Given the description of an element on the screen output the (x, y) to click on. 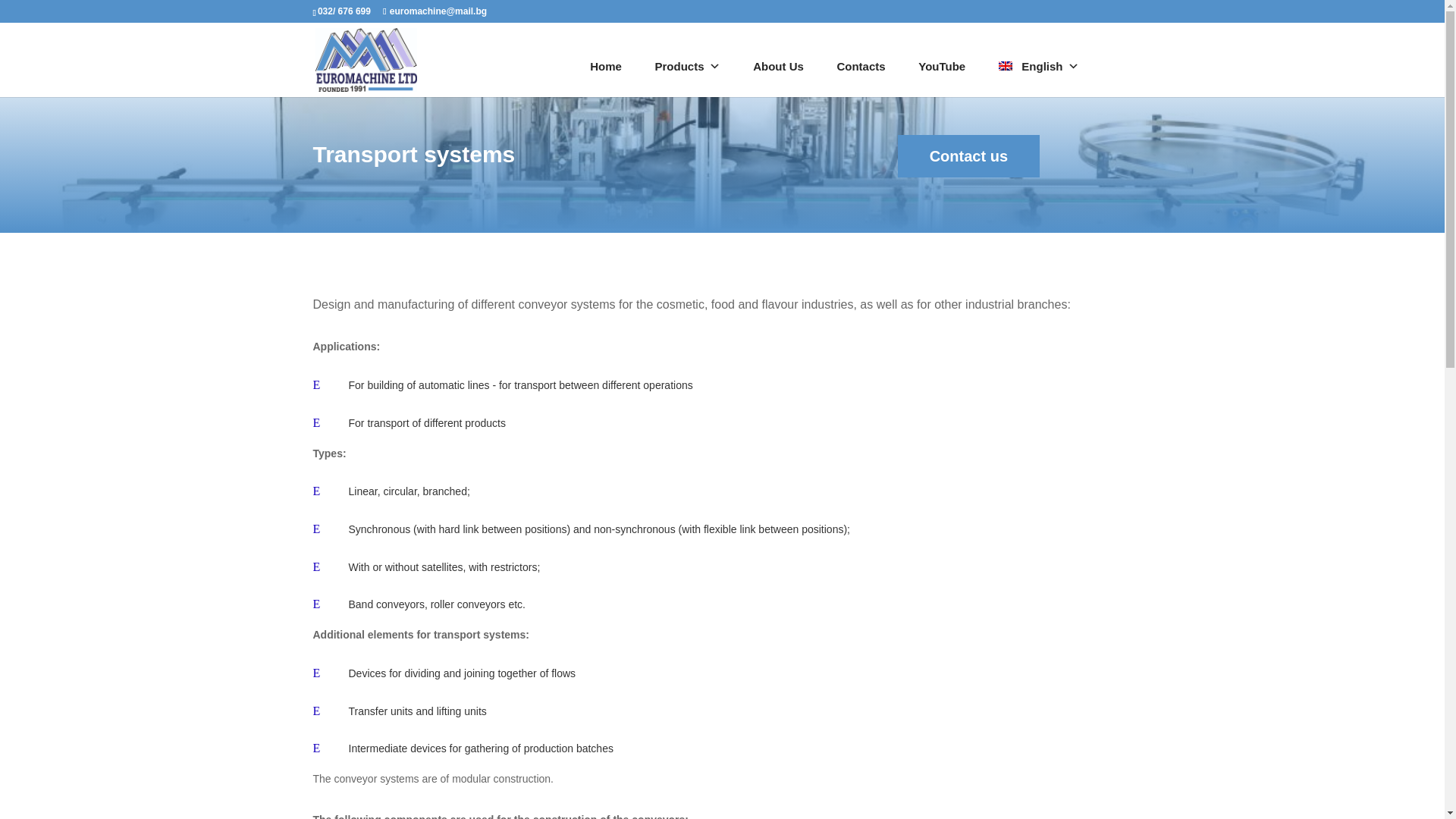
English (1038, 66)
Home (605, 66)
Products (687, 66)
